Given the description of an element on the screen output the (x, y) to click on. 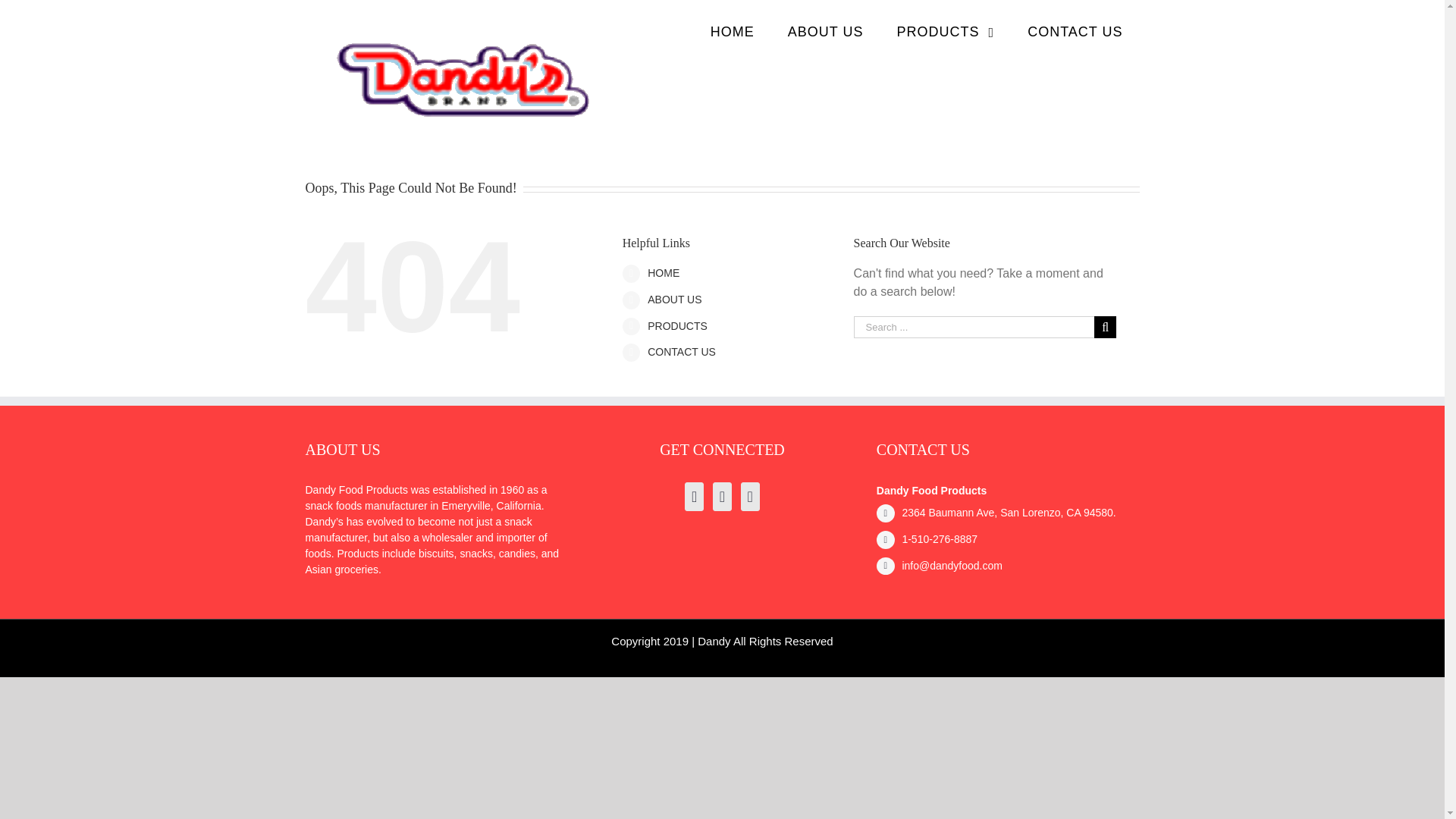
CONTACT US (681, 351)
HOME (732, 31)
ABOUT US (674, 299)
PRODUCTS (945, 31)
CONTACT US (1074, 31)
HOME (663, 272)
PRODUCTS (677, 326)
ABOUT US (825, 31)
